Given the description of an element on the screen output the (x, y) to click on. 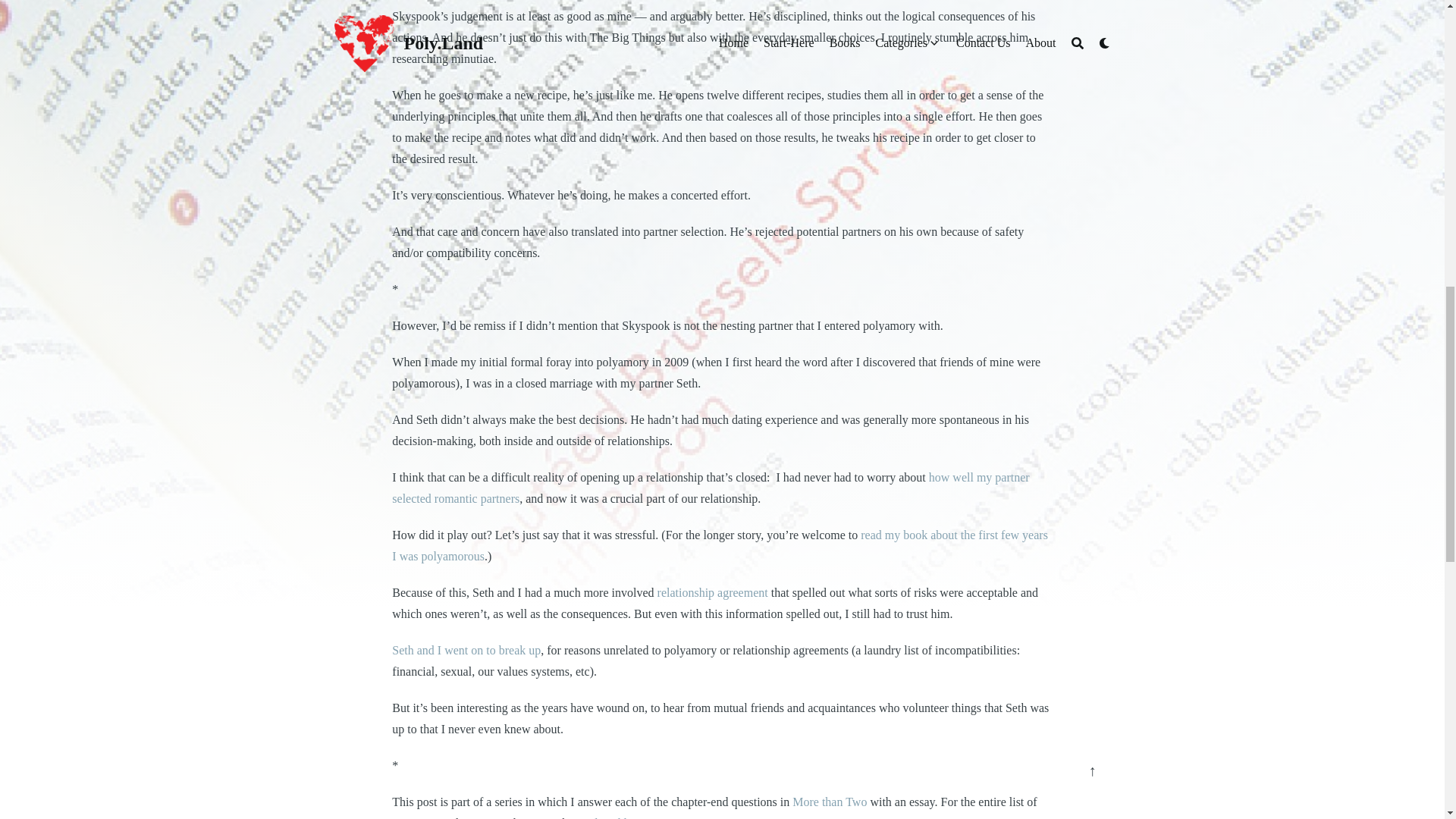
relationship agreement (713, 592)
indexed list (609, 817)
Seth and I went on to break up (465, 649)
More than Two (829, 801)
